Given the description of an element on the screen output the (x, y) to click on. 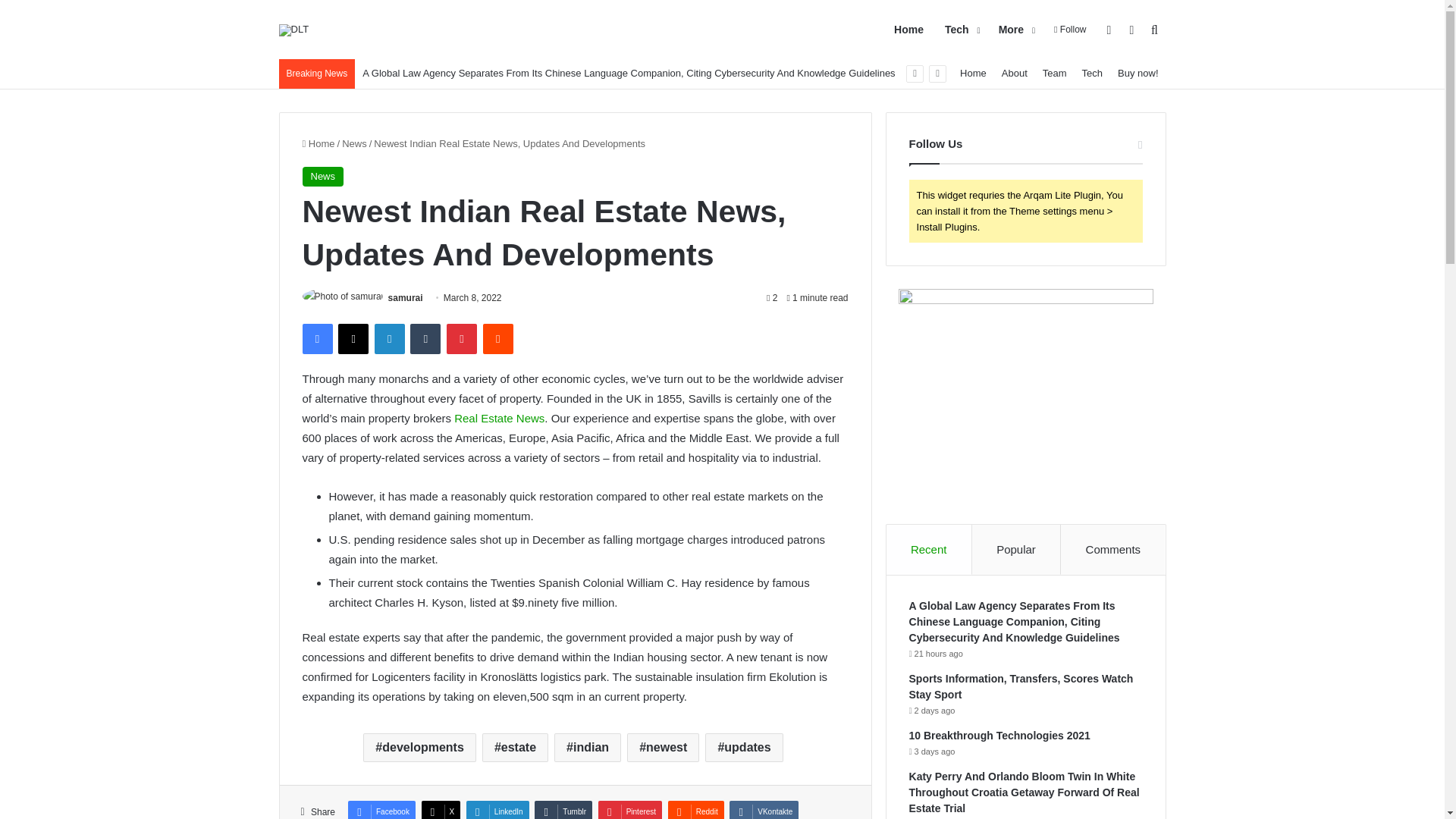
Tumblr (425, 338)
X (352, 338)
LinkedIn (389, 338)
Tech (961, 29)
Buy now! (1137, 73)
DLT (293, 30)
More (1015, 29)
Pinterest (461, 338)
samurai (405, 297)
Follow (1069, 29)
Facebook (316, 338)
Reddit (498, 338)
